Given the description of an element on the screen output the (x, y) to click on. 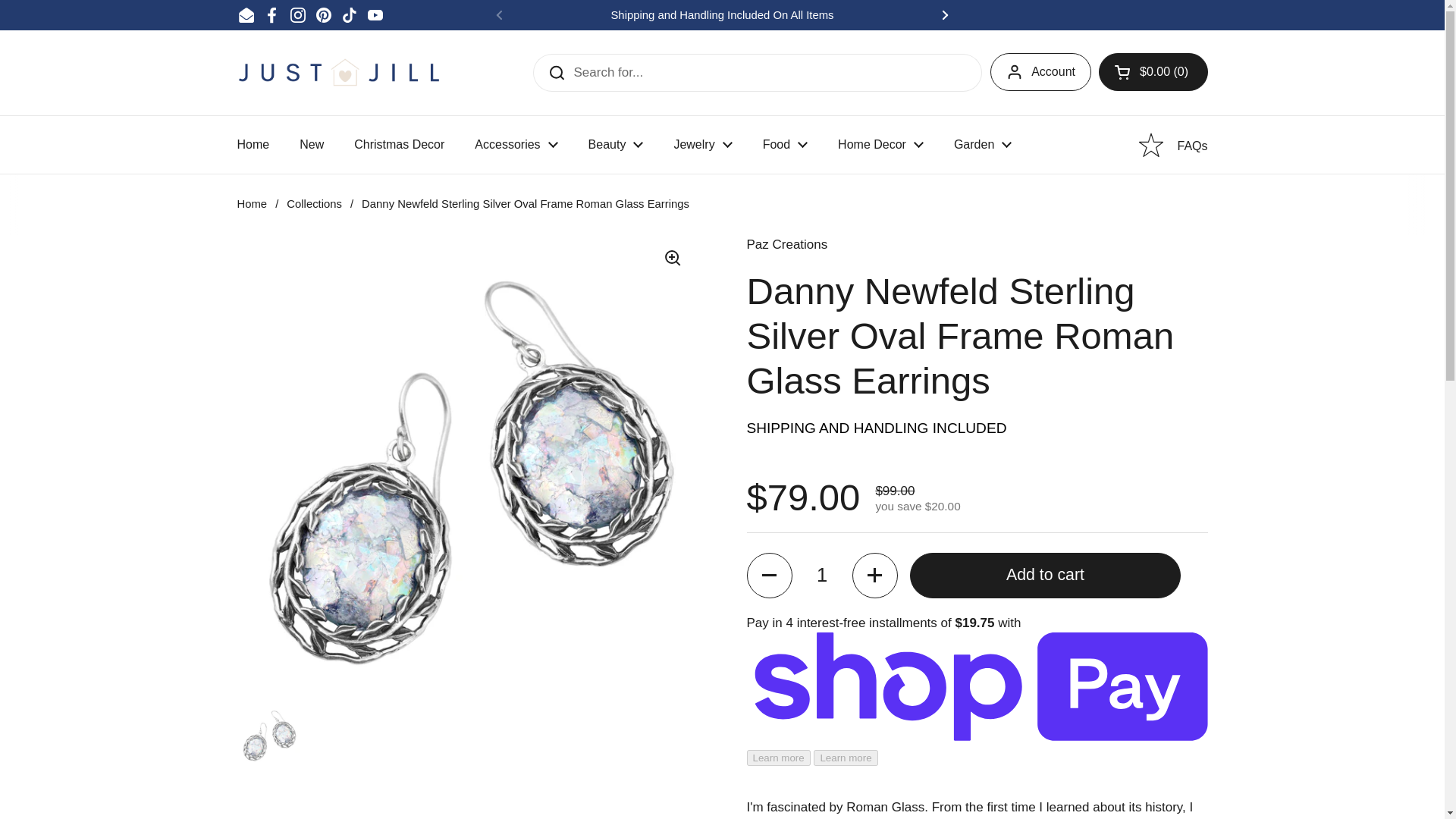
Home (252, 144)
New (311, 144)
Open cart (1153, 71)
Account (1040, 71)
Just Jill Shop (338, 71)
Beauty (616, 144)
Accessories (516, 144)
Christmas Decor (399, 144)
Pinterest (322, 14)
Email (244, 14)
